Given the description of an element on the screen output the (x, y) to click on. 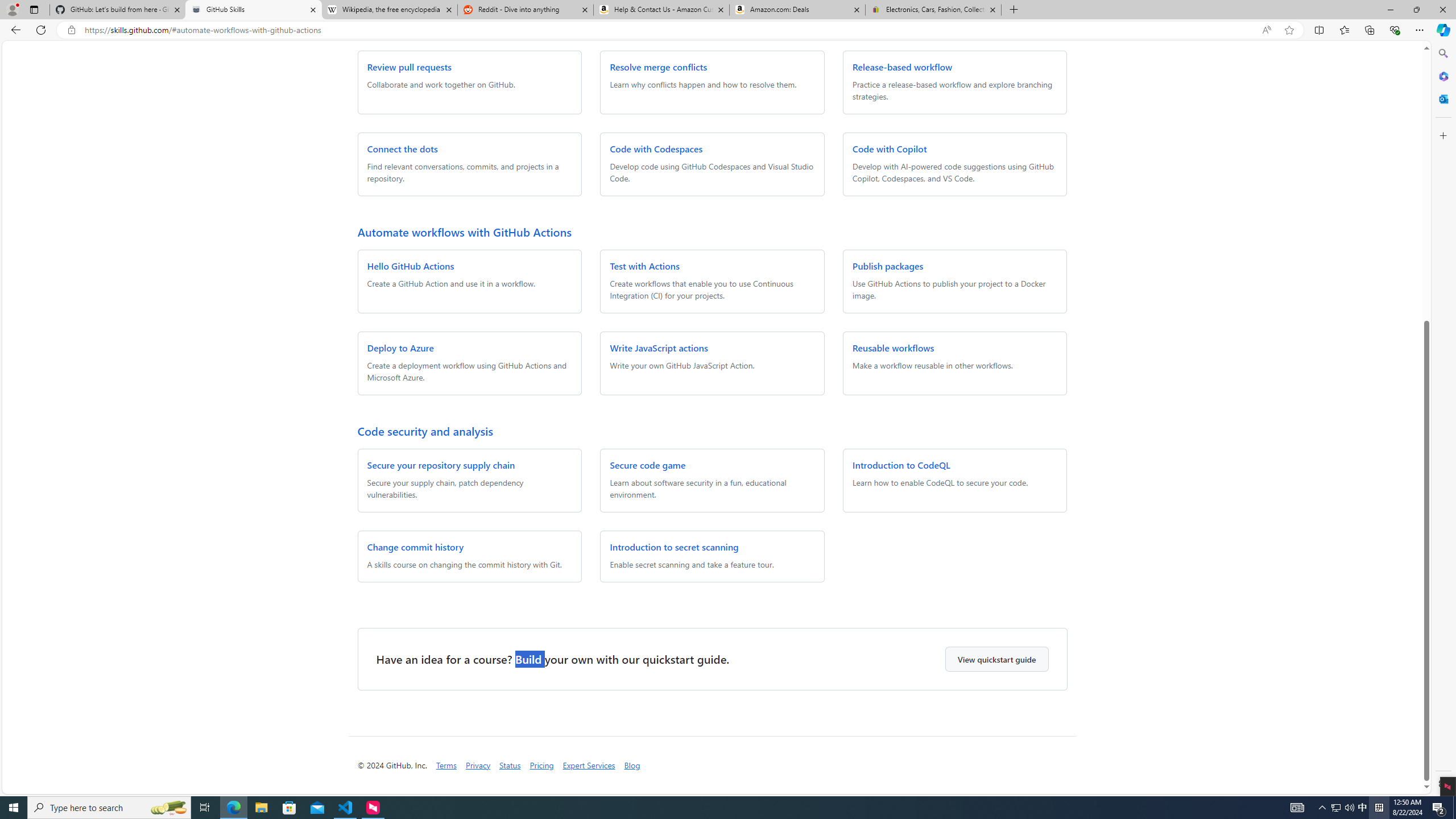
Publish packages (887, 265)
Wikipedia, the free encyclopedia (390, 9)
Connect the dots (402, 148)
Expert Services (588, 765)
Expert Services (588, 765)
Release-based workflow (901, 66)
Code security and analysis (424, 430)
Resolve merge conflicts (658, 66)
Deploy to Azure (399, 347)
GitHub Skills (253, 9)
